Given the description of an element on the screen output the (x, y) to click on. 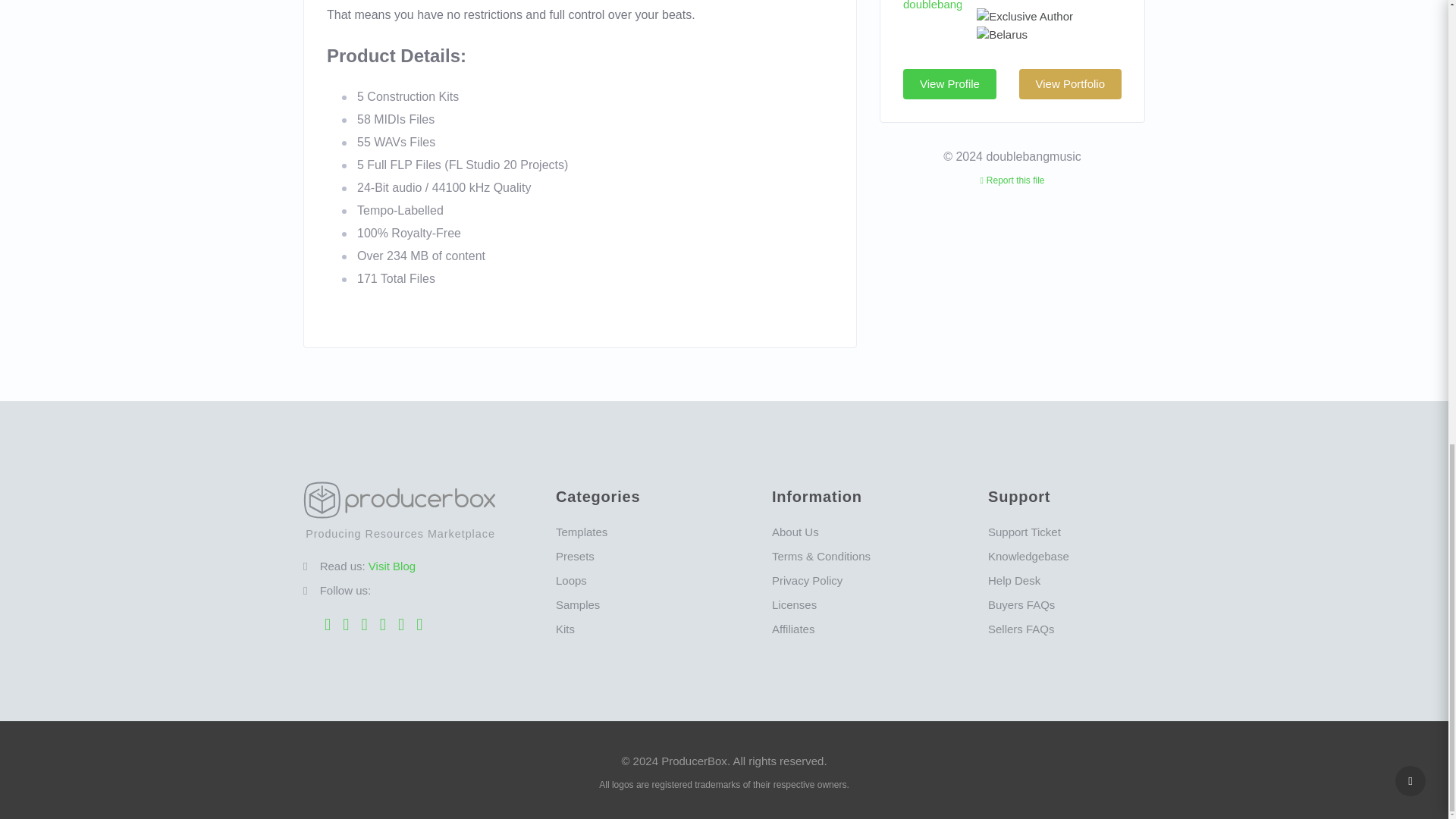
Exclusive Author (1024, 16)
View doublebangmusic profile (931, 2)
Belarus (1001, 35)
